Given the description of an element on the screen output the (x, y) to click on. 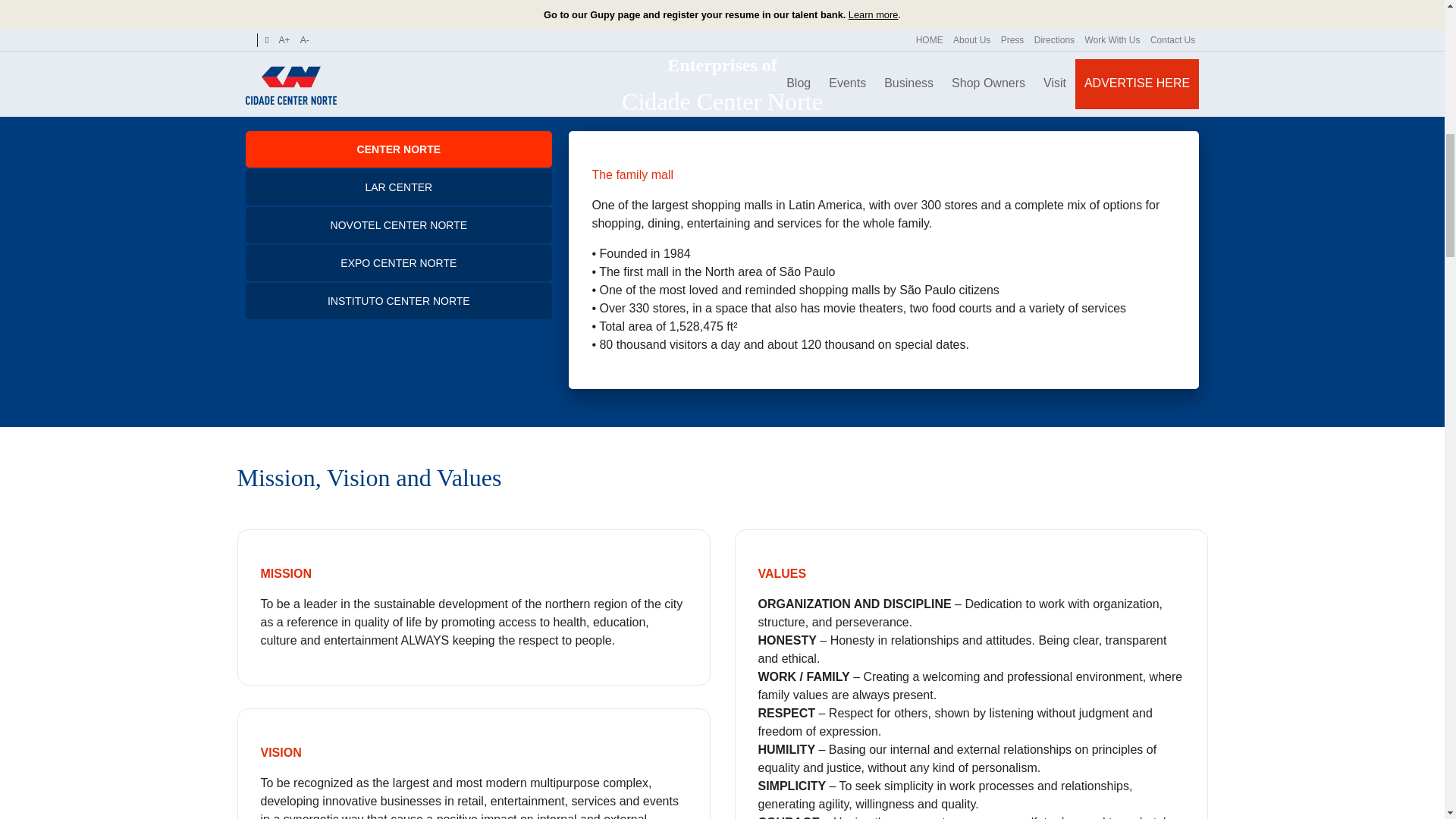
LAR CENTER (398, 186)
CENTER NORTE (398, 149)
EXPO CENTER NORTE (398, 262)
INSTITUTO CENTER NORTE (398, 300)
NOVOTEL CENTER NORTE (398, 225)
